Given the description of an element on the screen output the (x, y) to click on. 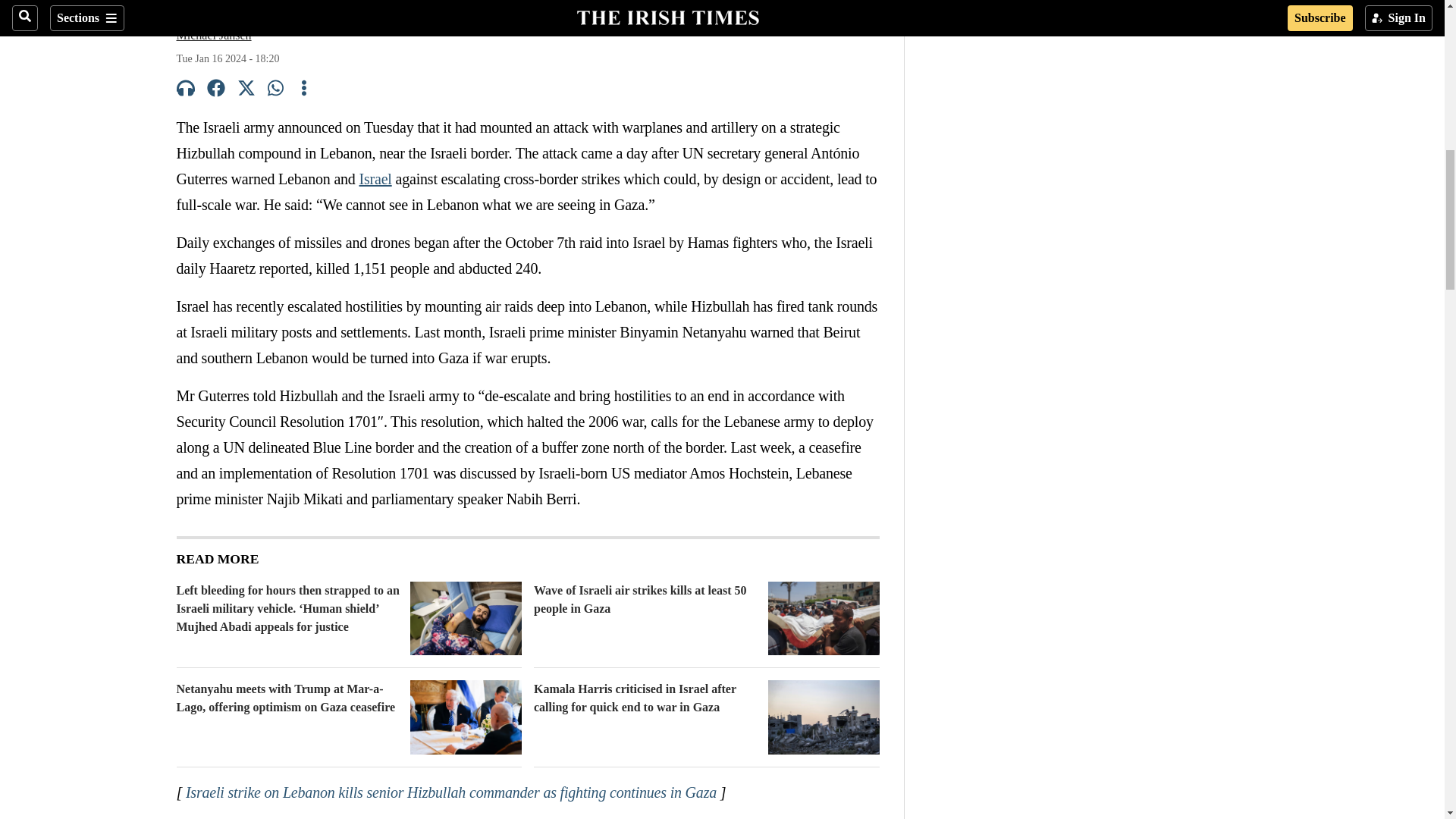
X (244, 90)
WhatsApp (275, 90)
Facebook (215, 90)
